Given the description of an element on the screen output the (x, y) to click on. 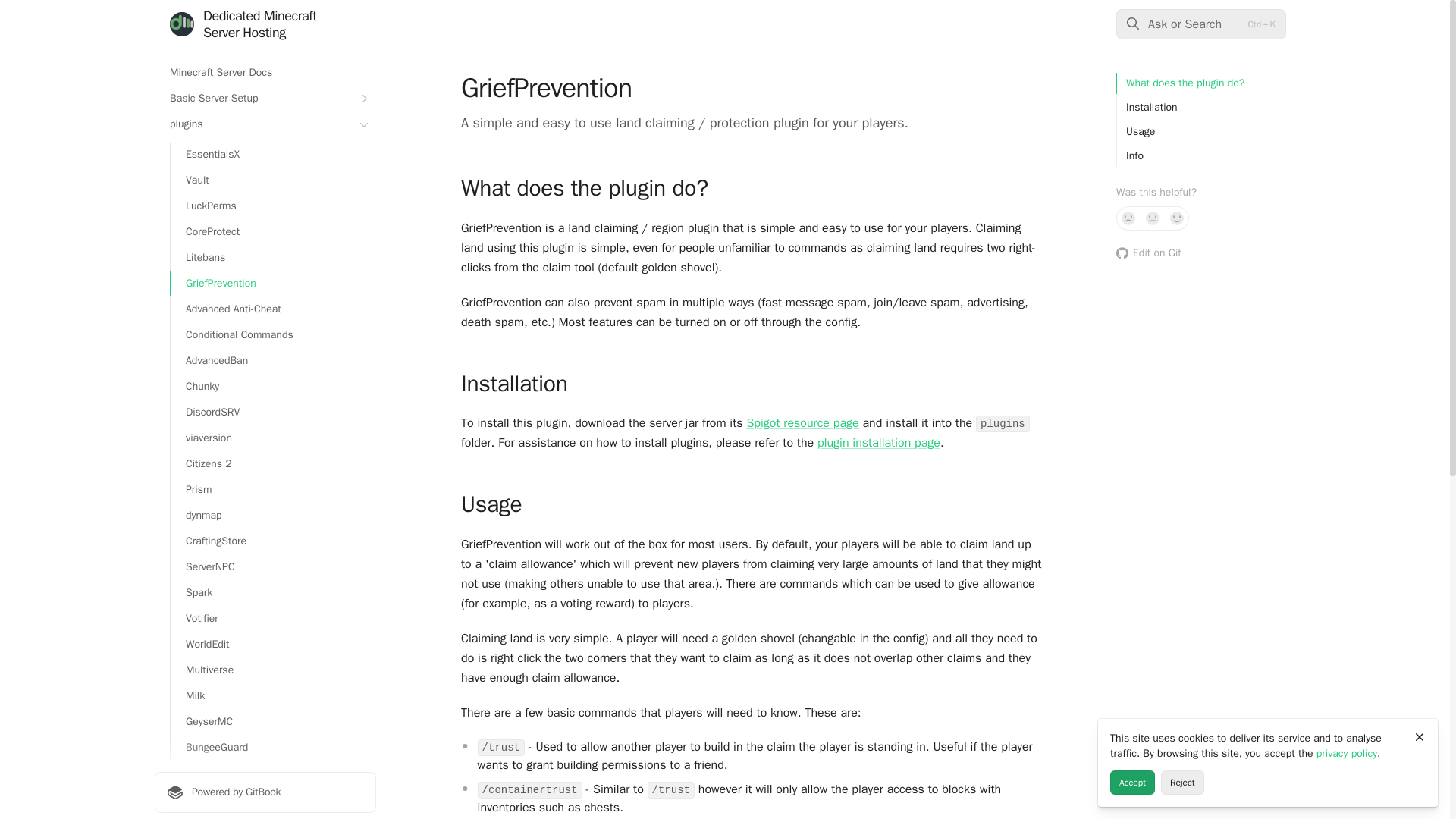
Not sure (1152, 218)
CraftingStore (272, 541)
dynmap (272, 515)
EssentialsX (272, 154)
Close (1419, 737)
Vault (272, 180)
ServerNPC (272, 567)
Multiverse (272, 670)
DiscordSRV (272, 412)
Prism (272, 489)
